Given the description of an element on the screen output the (x, y) to click on. 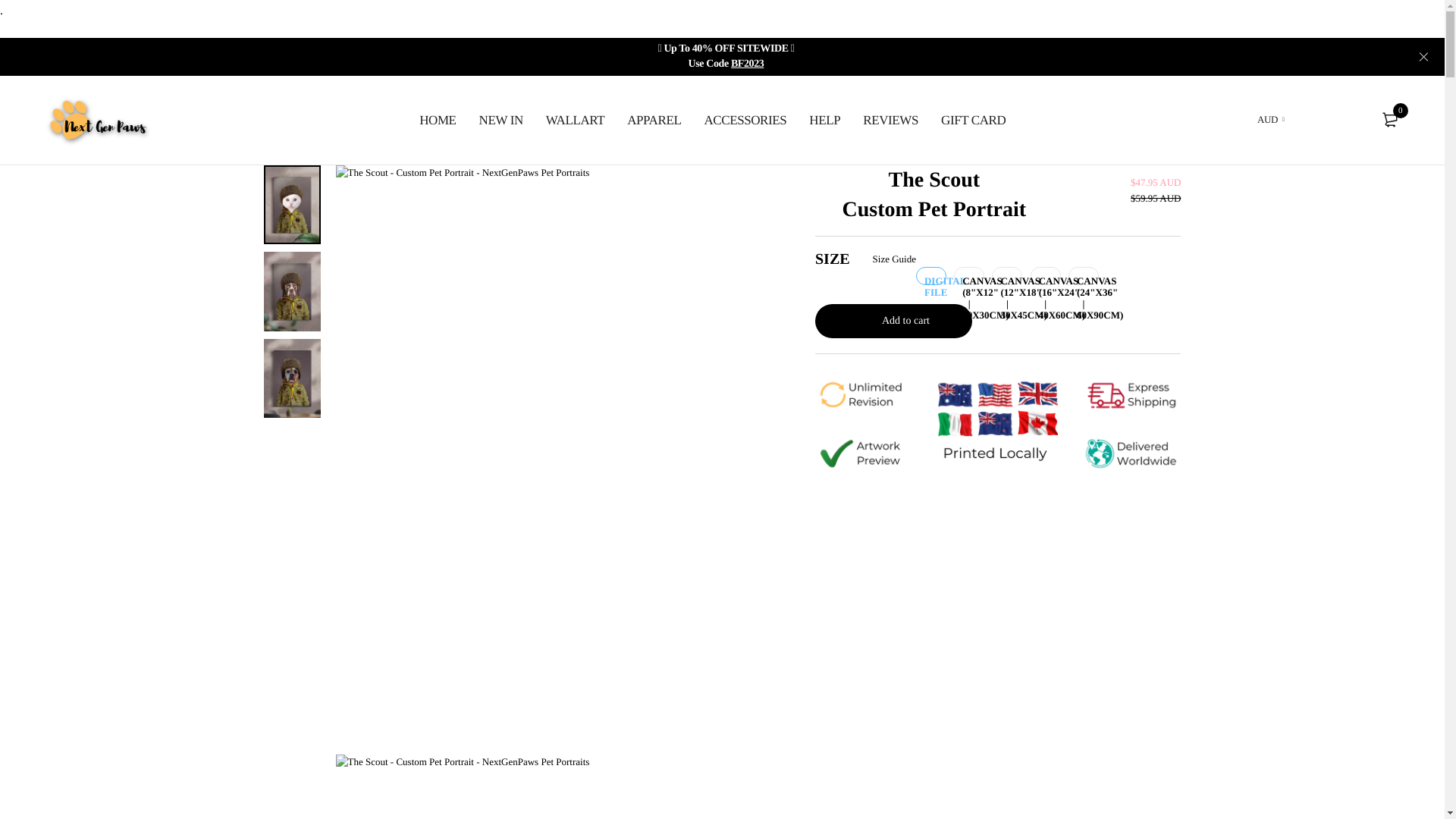
ACCESSORIES Element type: text (744, 119)
NEW IN Element type: text (501, 119)
HOME Element type: text (437, 119)
HELP Element type: text (824, 119)
Size Guide Element type: text (892, 258)
WALLART Element type: text (575, 119)
0 Element type: text (1388, 119)
REVIEWS Element type: text (890, 119)
AUD Element type: text (1270, 119)
APPAREL Element type: text (653, 119)
GIFT CARD Element type: text (973, 119)
Add to cart Element type: text (893, 321)
